Given the description of an element on the screen output the (x, y) to click on. 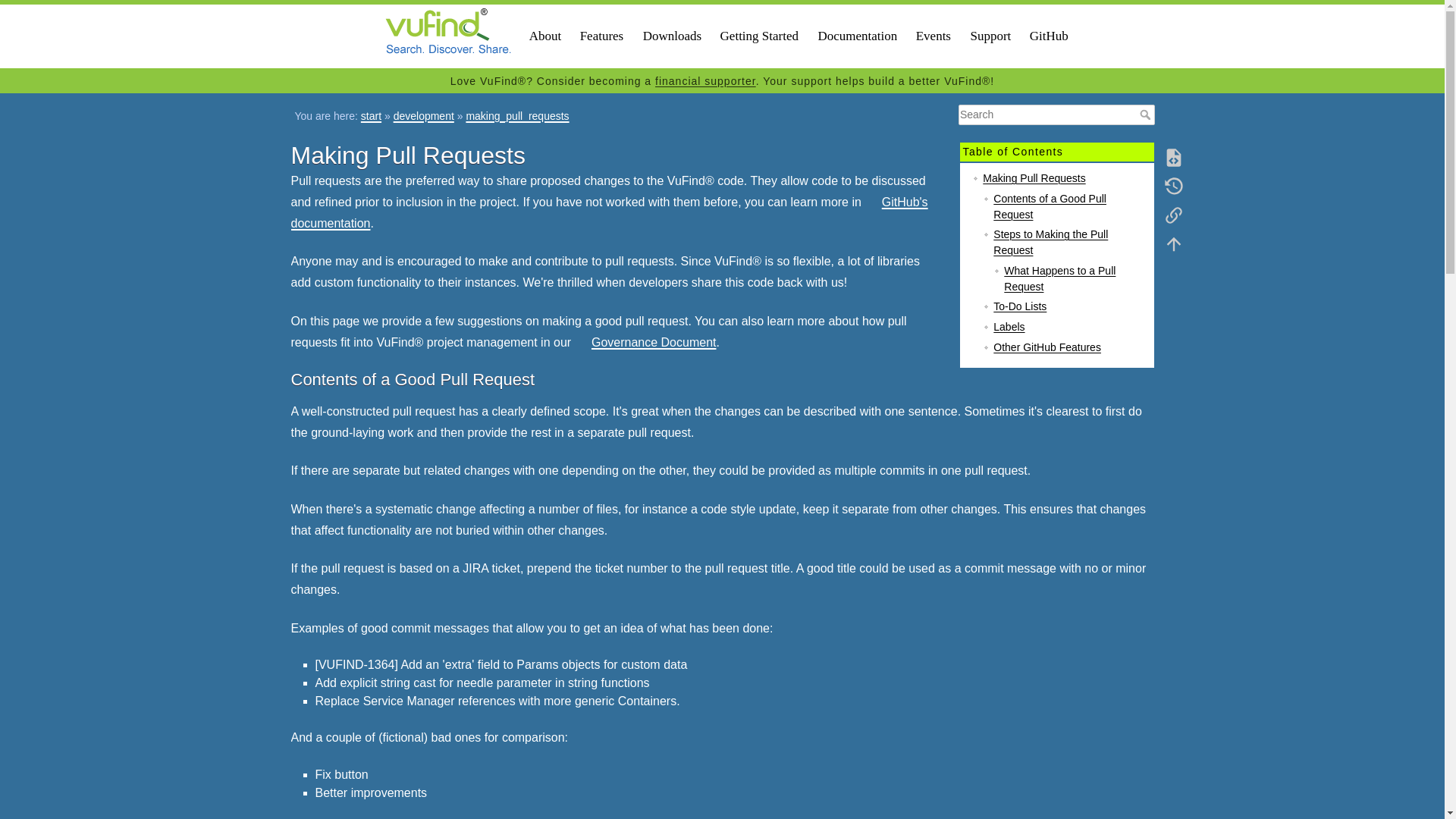
Steps to Making the Pull Request (1050, 242)
To-Do Lists (1019, 306)
start (371, 115)
Downloads (671, 35)
start (371, 115)
financial supporter (705, 80)
Making Pull Requests (1033, 177)
Governance Document (645, 341)
Getting Started (759, 35)
GitHub's documentation (609, 212)
